Given the description of an element on the screen output the (x, y) to click on. 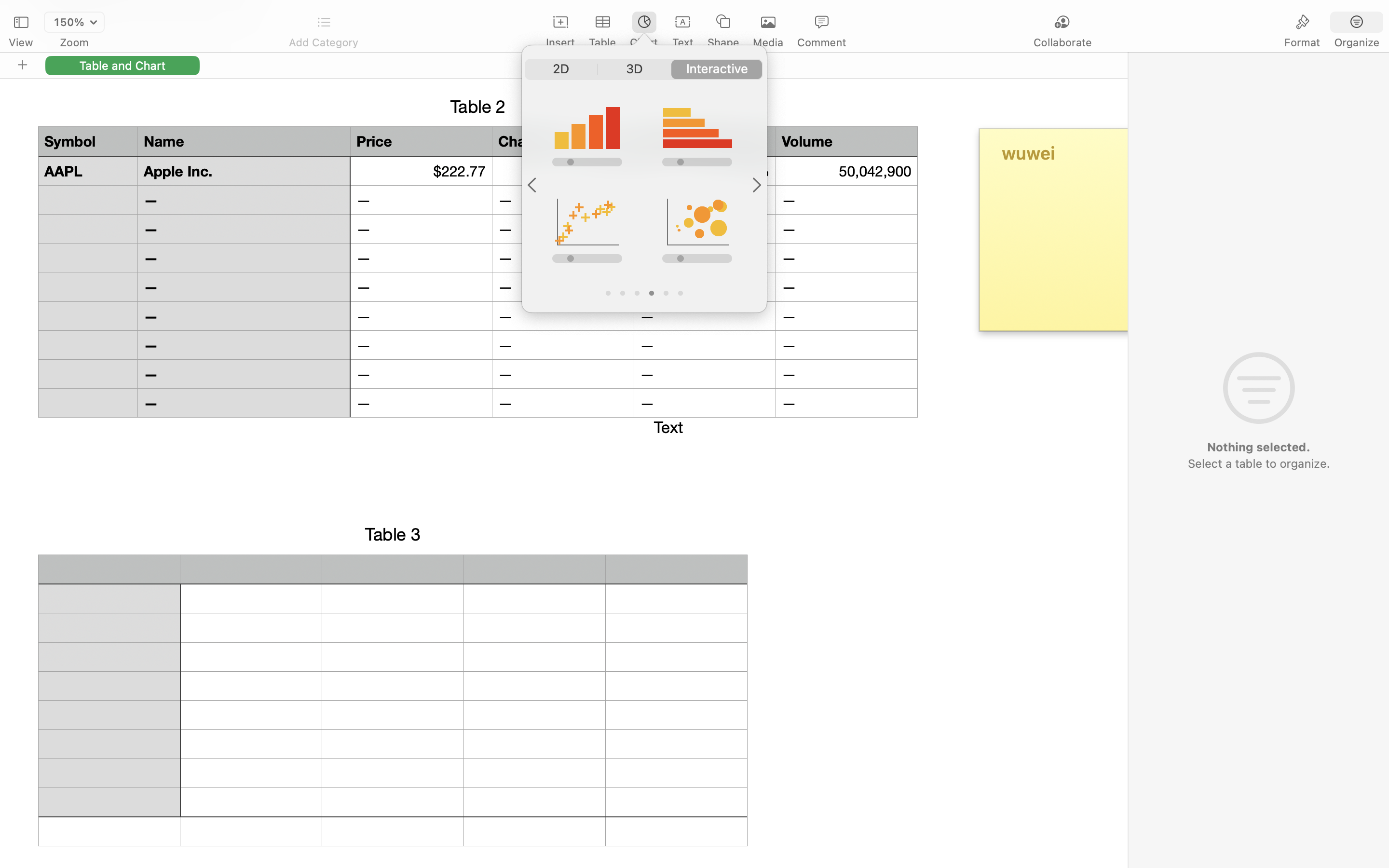
Select a table to organize. Element type: AXStaticText (1258, 463)
View Element type: AXStaticText (20, 42)
Table and Chart Element type: AXStaticText (122, 64)
Insert Element type: AXStaticText (560, 42)
